Given the description of an element on the screen output the (x, y) to click on. 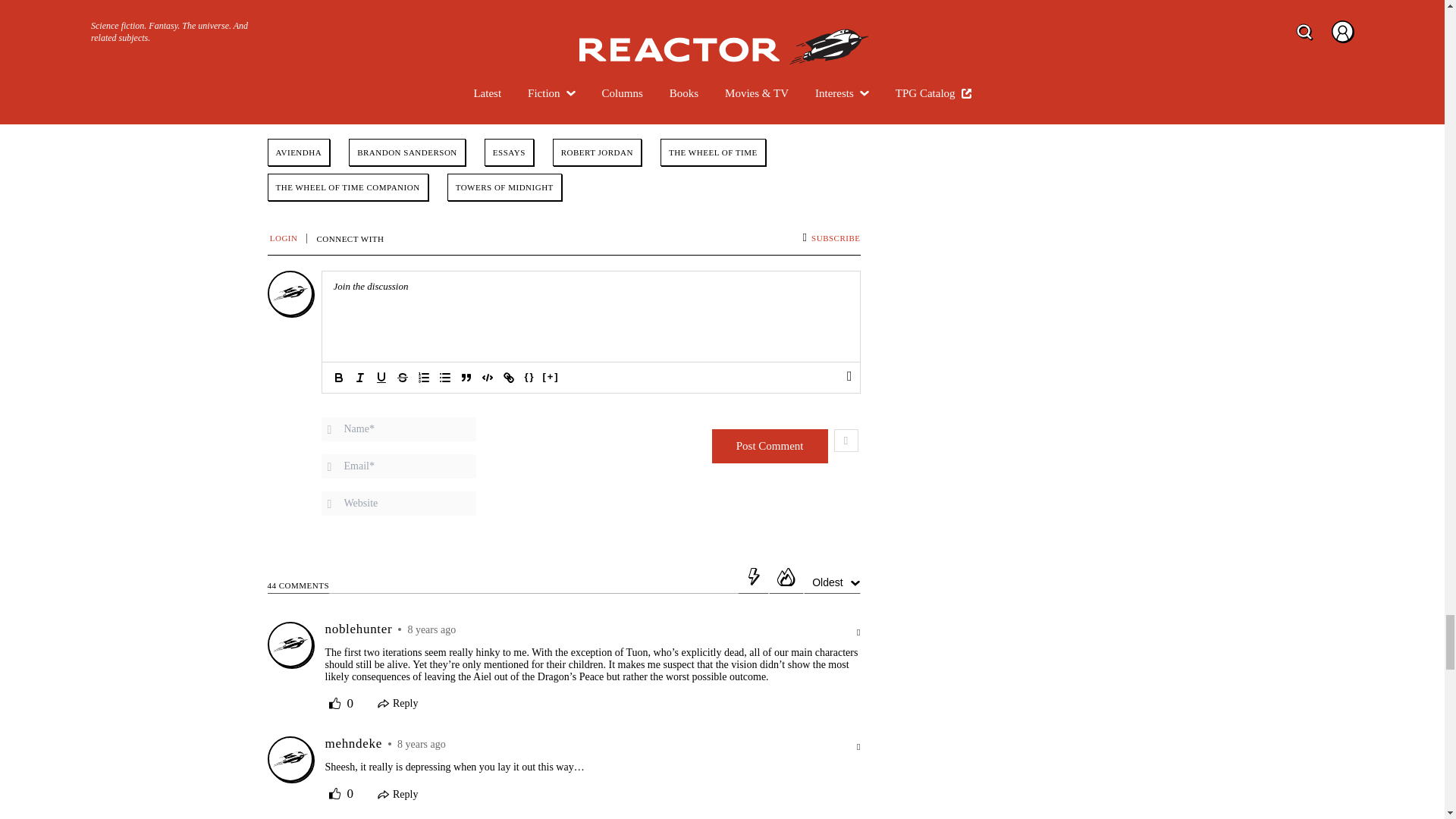
Post Comment (769, 446)
